Given the description of an element on the screen output the (x, y) to click on. 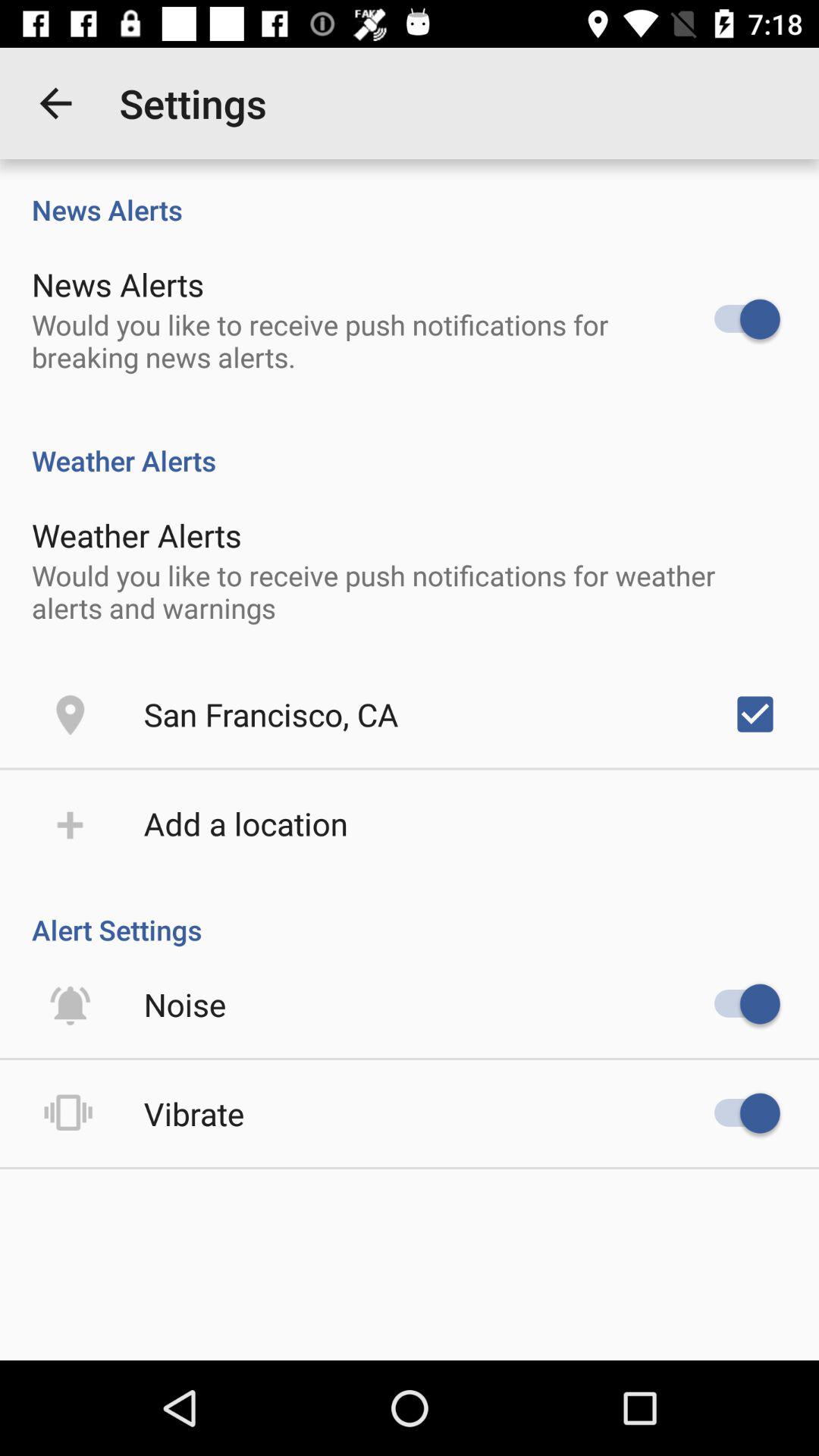
tap the san francisco, ca item (270, 713)
